Given the description of an element on the screen output the (x, y) to click on. 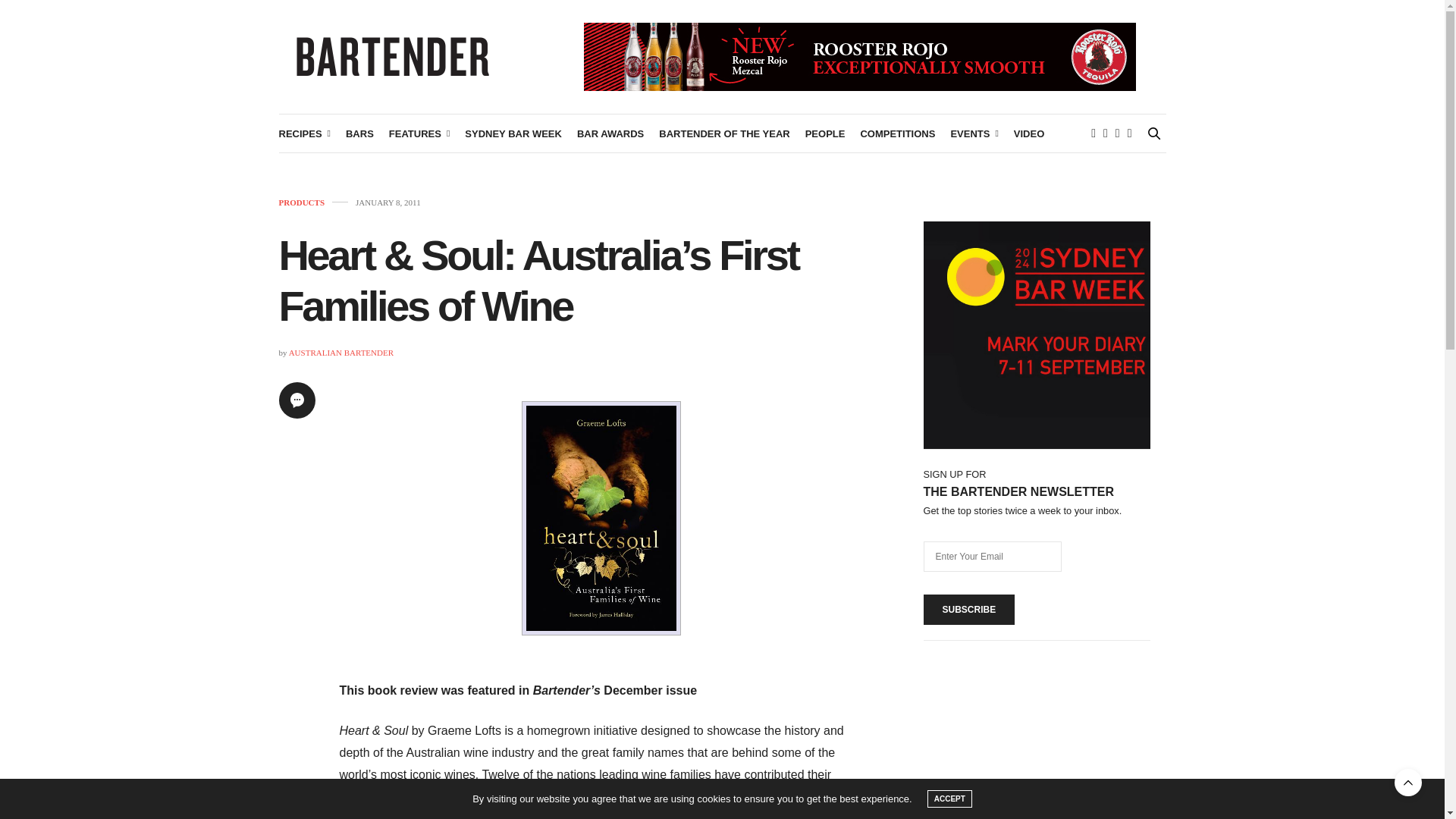
australianbartender.com.au (393, 56)
Subscribe (968, 609)
FEATURES (418, 133)
Posts by Australian Bartender (340, 352)
Scroll To Top (1408, 782)
RECIPES (304, 133)
